Given the description of an element on the screen output the (x, y) to click on. 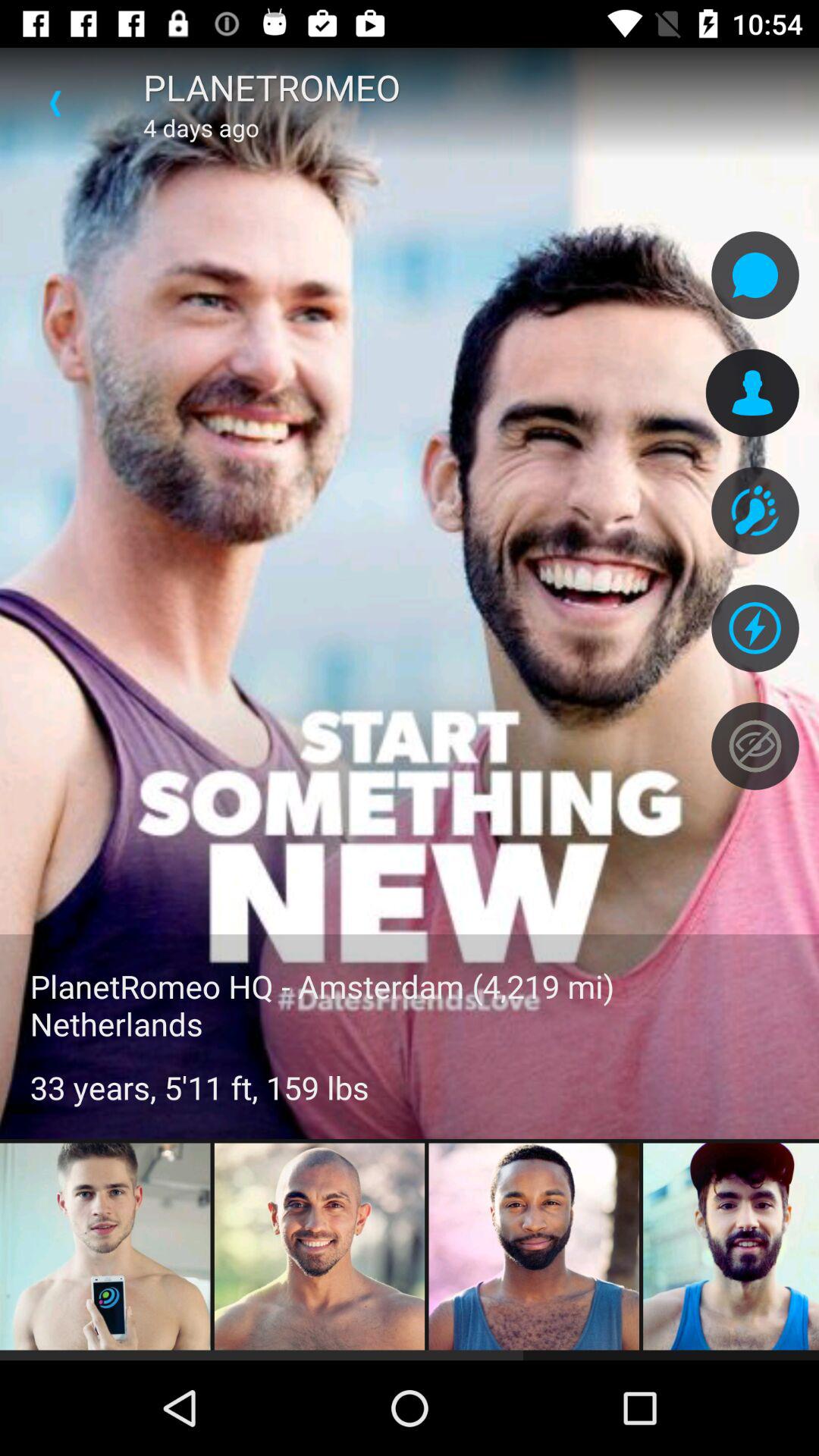
press item next to the planetromeo icon (55, 103)
